Given the description of an element on the screen output the (x, y) to click on. 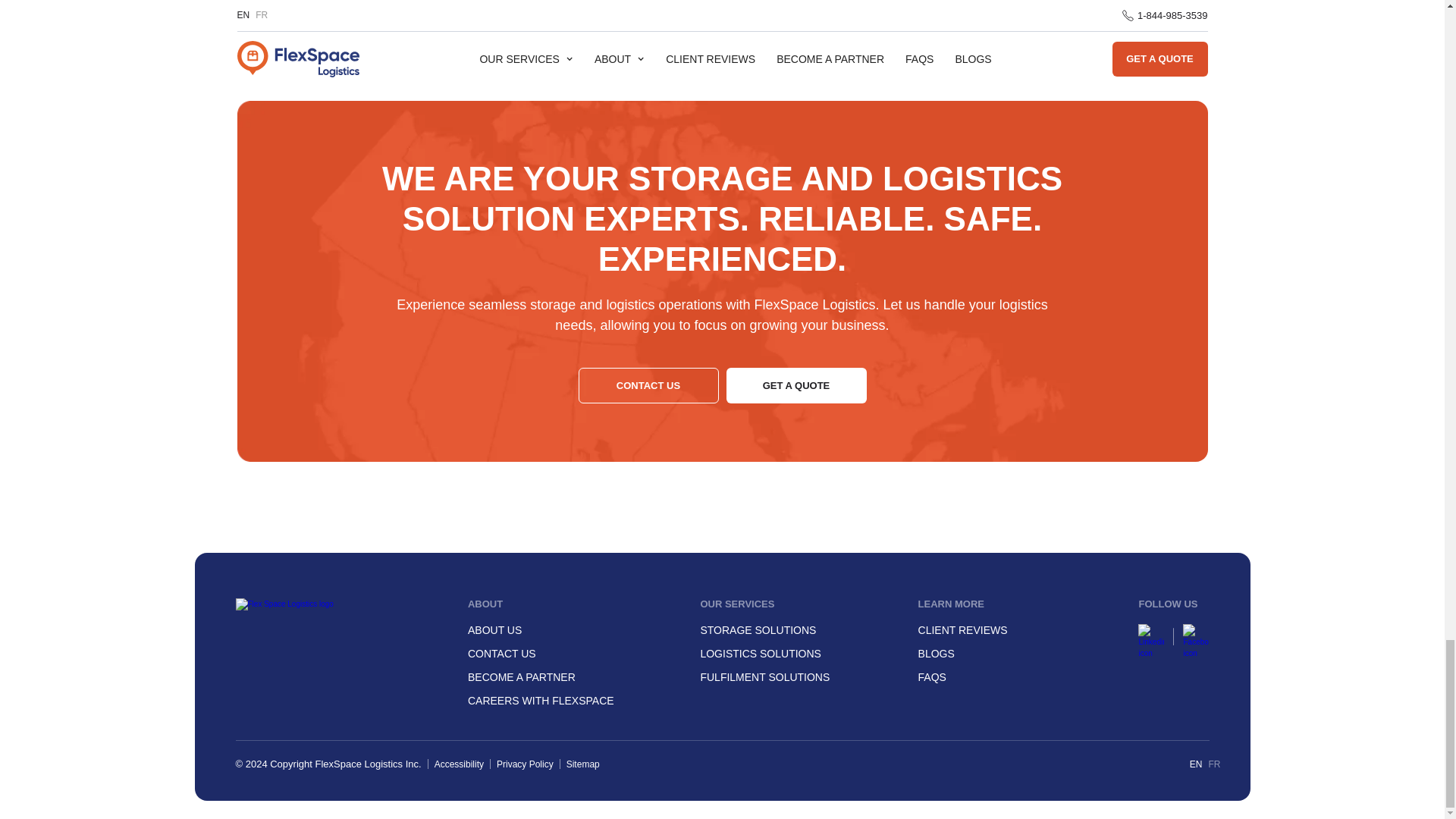
CONTACT US (501, 653)
ABOUT US (494, 630)
GET A QUOTE (796, 385)
CONTACT US (647, 385)
